Given the description of an element on the screen output the (x, y) to click on. 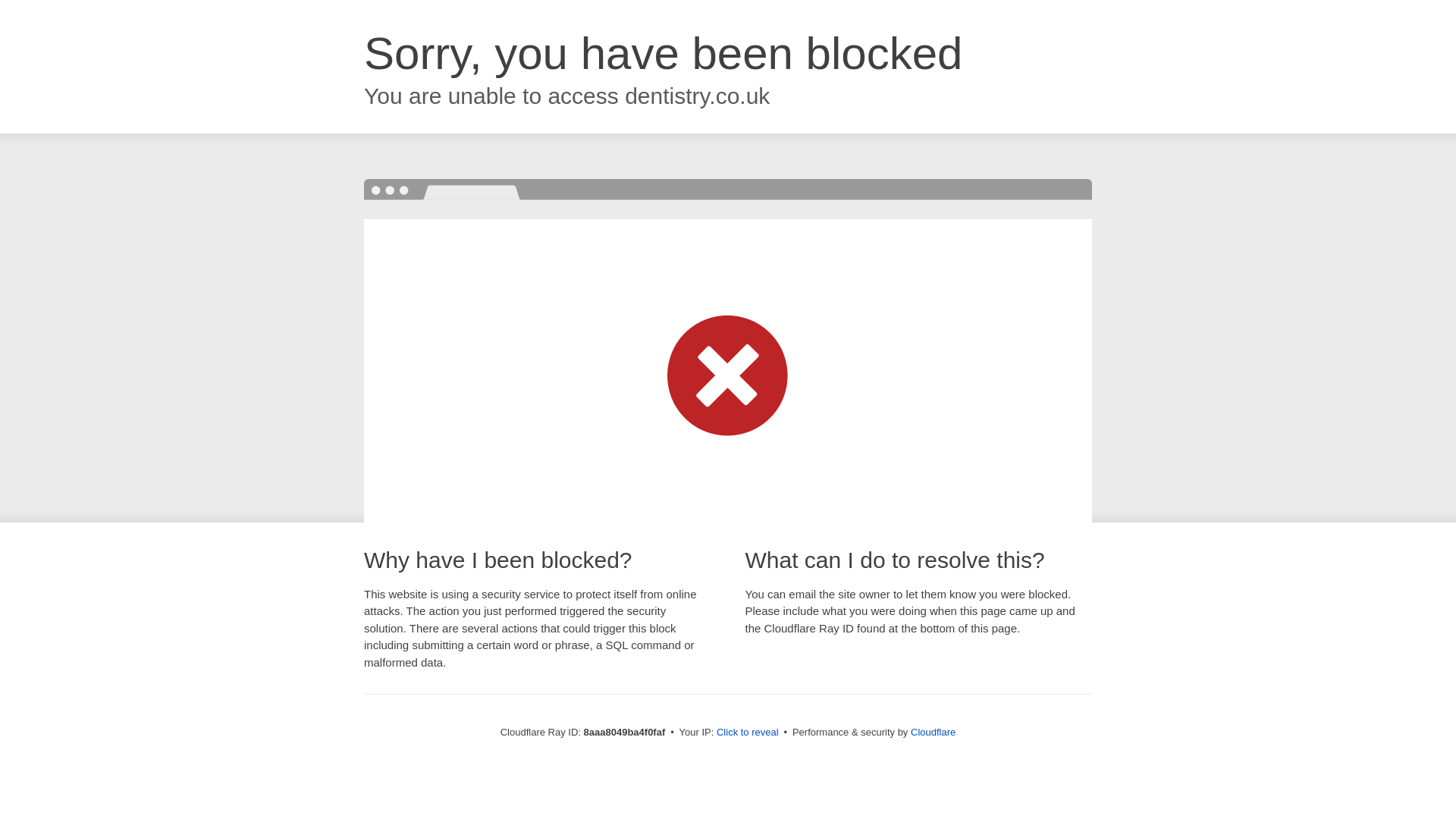
Cloudflare (933, 731)
Click to reveal (747, 732)
